Given the description of an element on the screen output the (x, y) to click on. 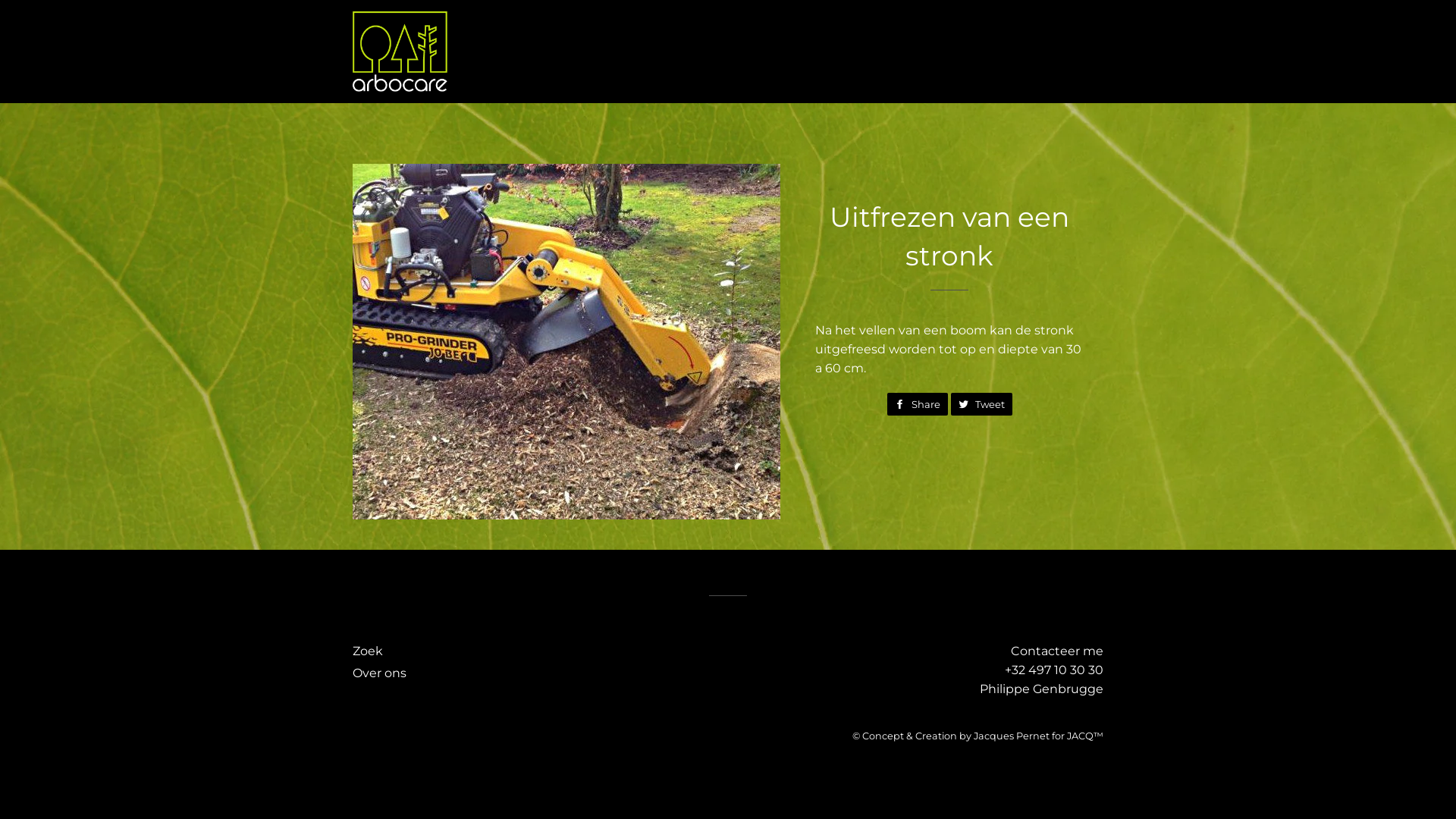
Over ons Element type: text (379, 672)
Zoek Element type: text (367, 650)
Tweet Element type: text (981, 403)
Share Element type: text (917, 403)
